Given the description of an element on the screen output the (x, y) to click on. 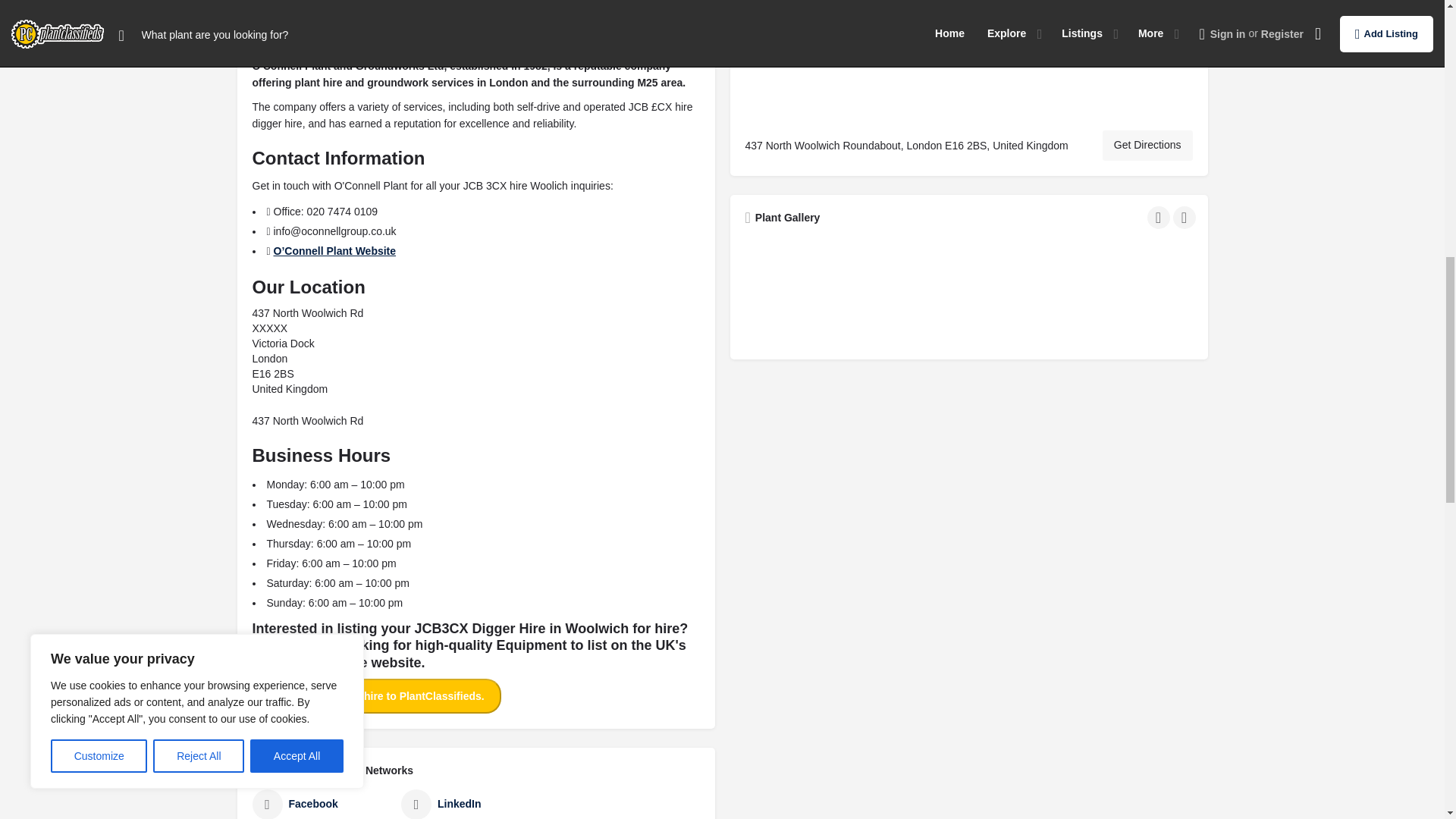
JCB3CX Digger Hire in Woolwich (816, 290)
JCB Hire in Woolwich (968, 290)
